Given the description of an element on the screen output the (x, y) to click on. 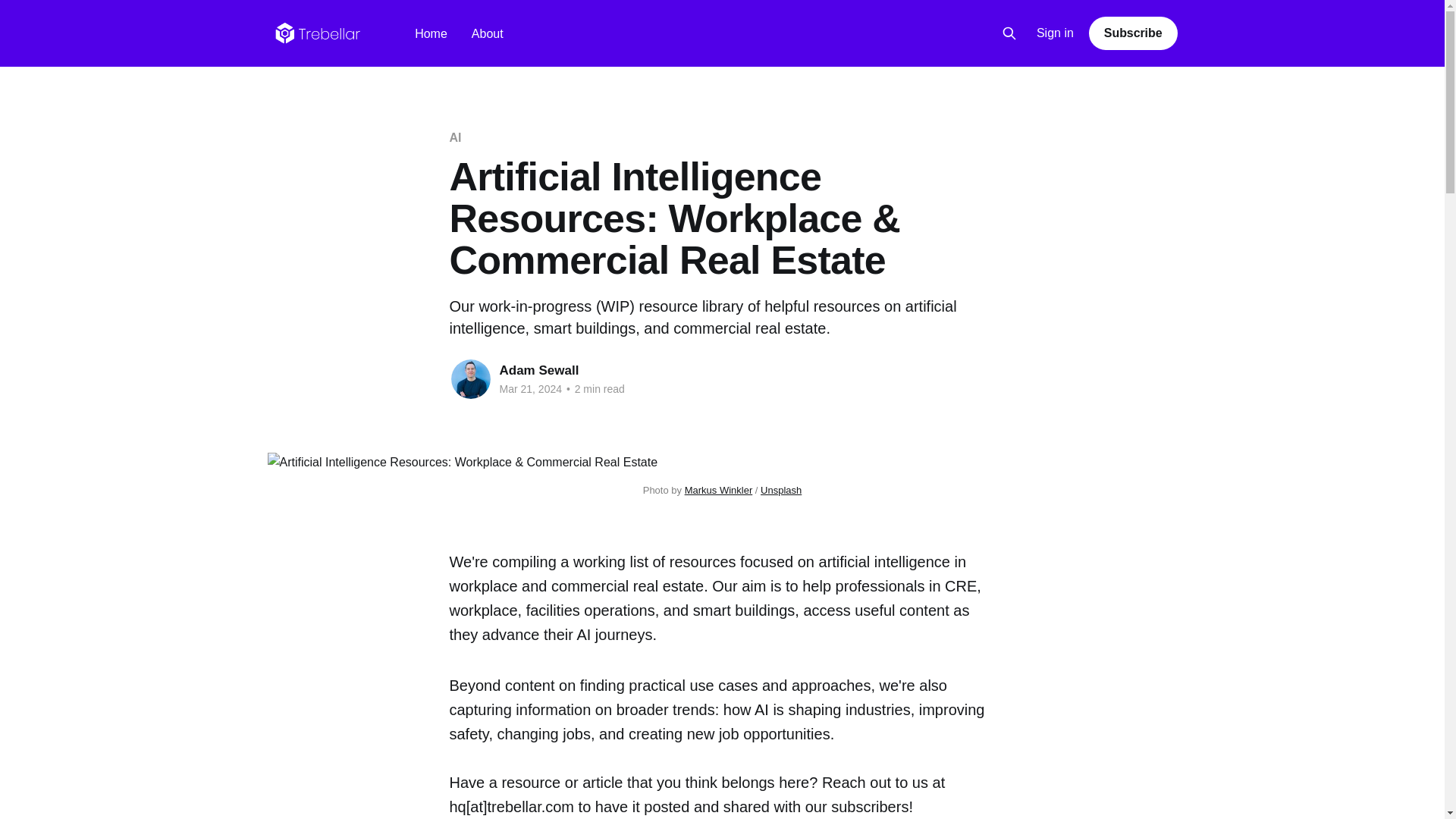
Adam Sewall (538, 370)
About (487, 33)
Sign in (1055, 33)
Unsplash (781, 490)
Subscribe (1133, 32)
Markus Winkler (718, 490)
Home (430, 33)
AI (454, 137)
